Given the description of an element on the screen output the (x, y) to click on. 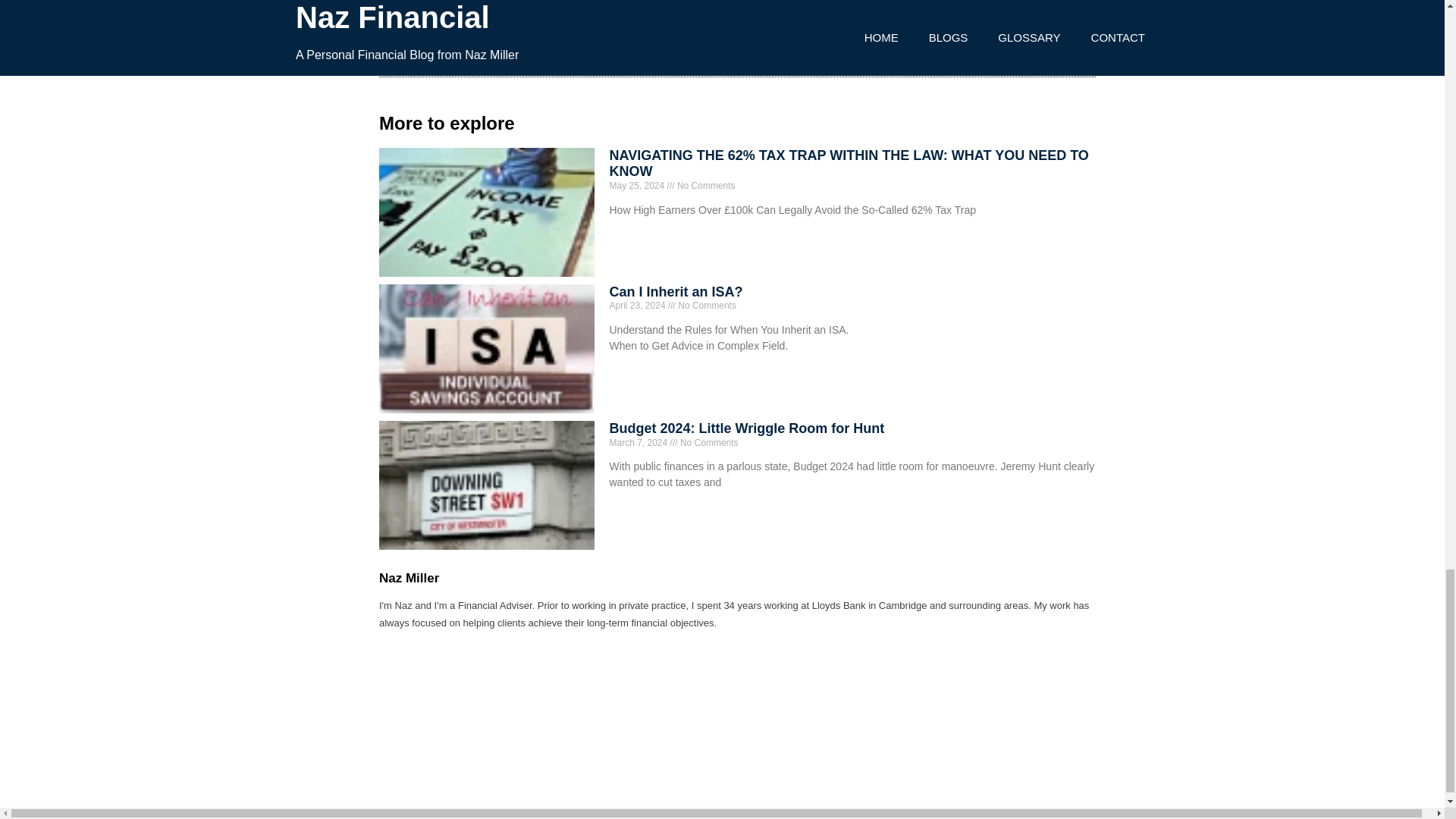
Budget 2024: Little Wriggle Room for Hunt (747, 427)
Naz Miller (737, 578)
Can I Inherit an ISA? (676, 291)
